Given the description of an element on the screen output the (x, y) to click on. 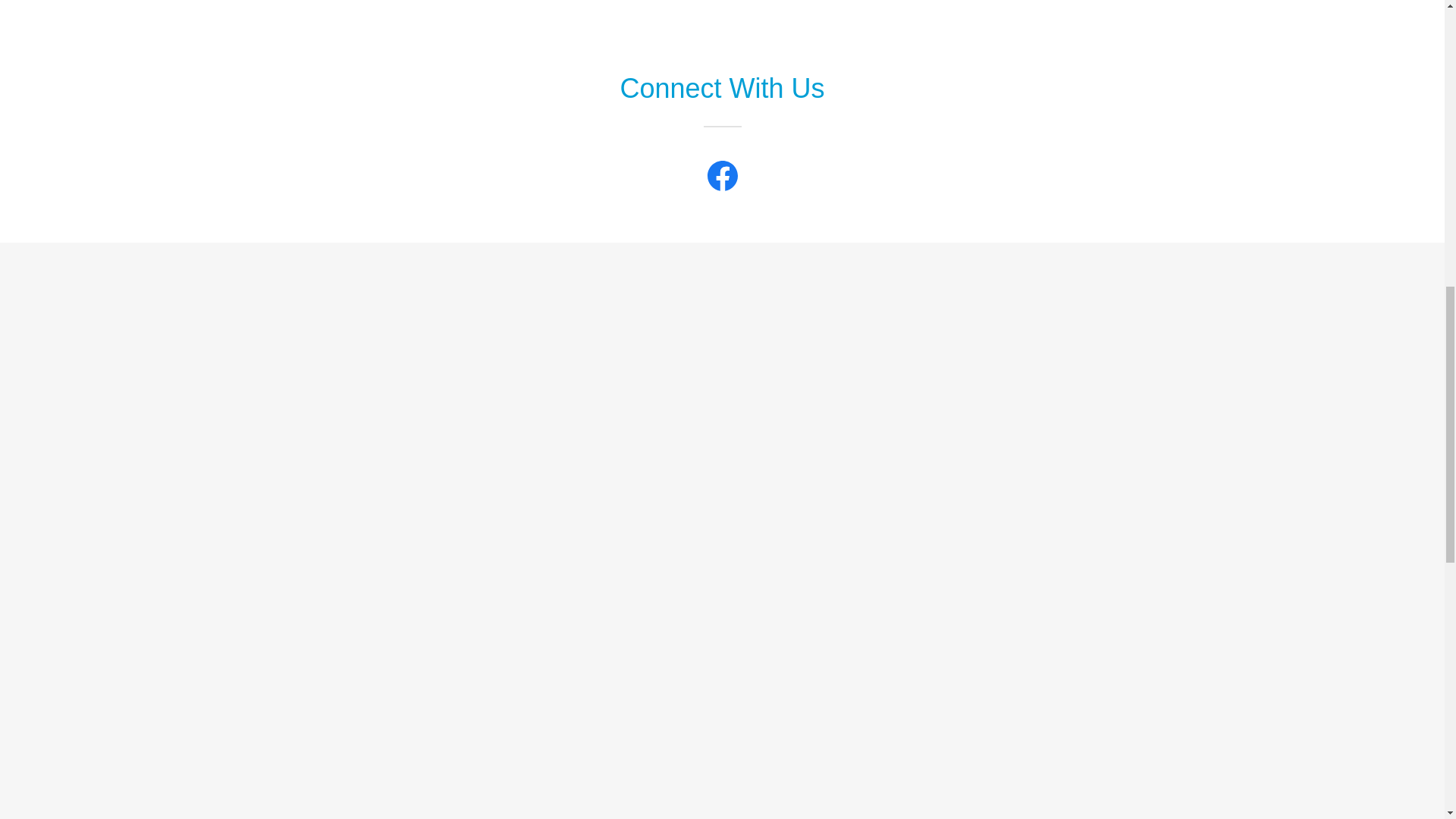
ACCEPT (1274, 324)
